Given the description of an element on the screen output the (x, y) to click on. 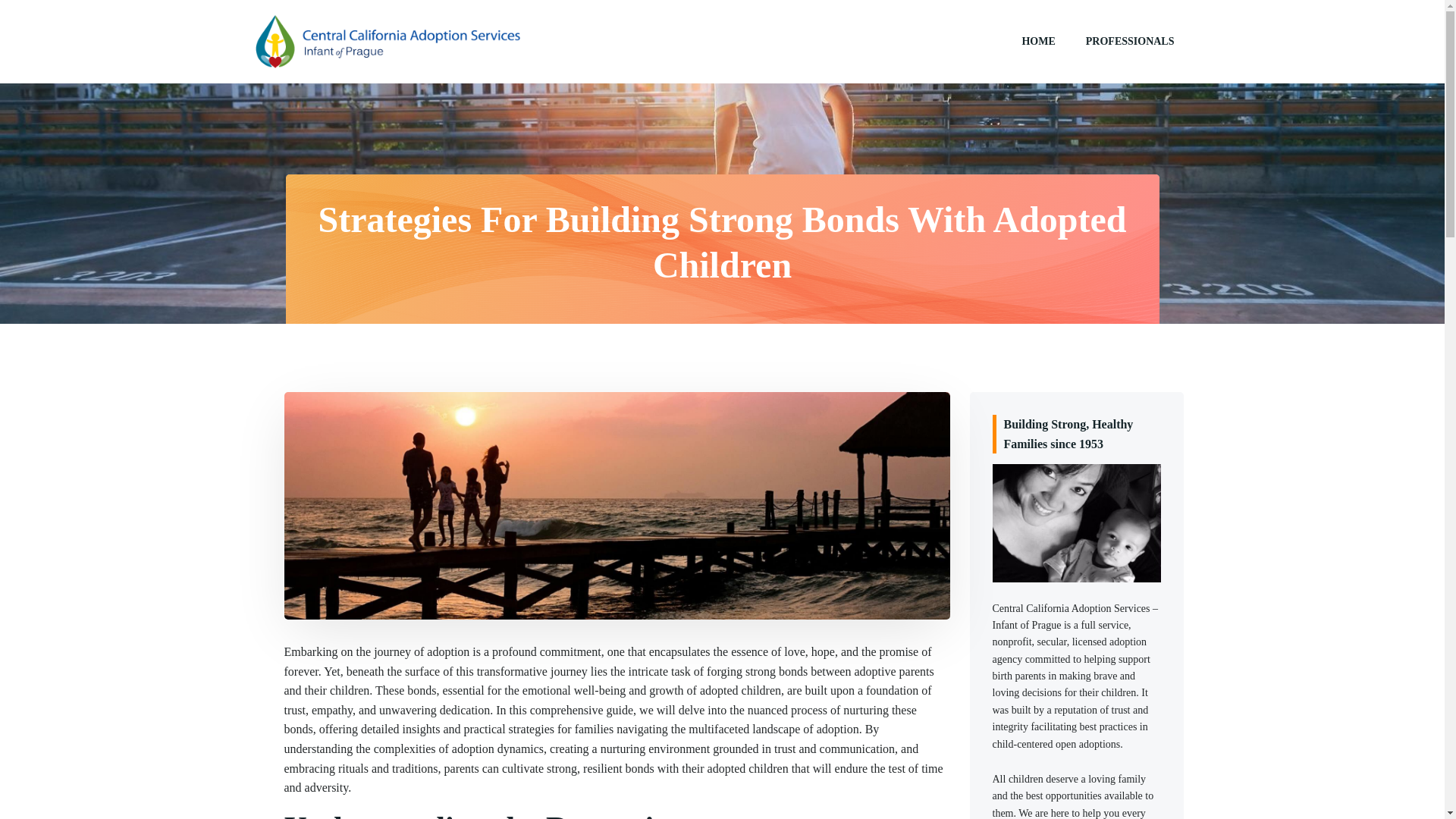
PROFESSIONALS (1130, 41)
ColibriWP Theme (847, 784)
HOME (1038, 41)
